Given the description of an element on the screen output the (x, y) to click on. 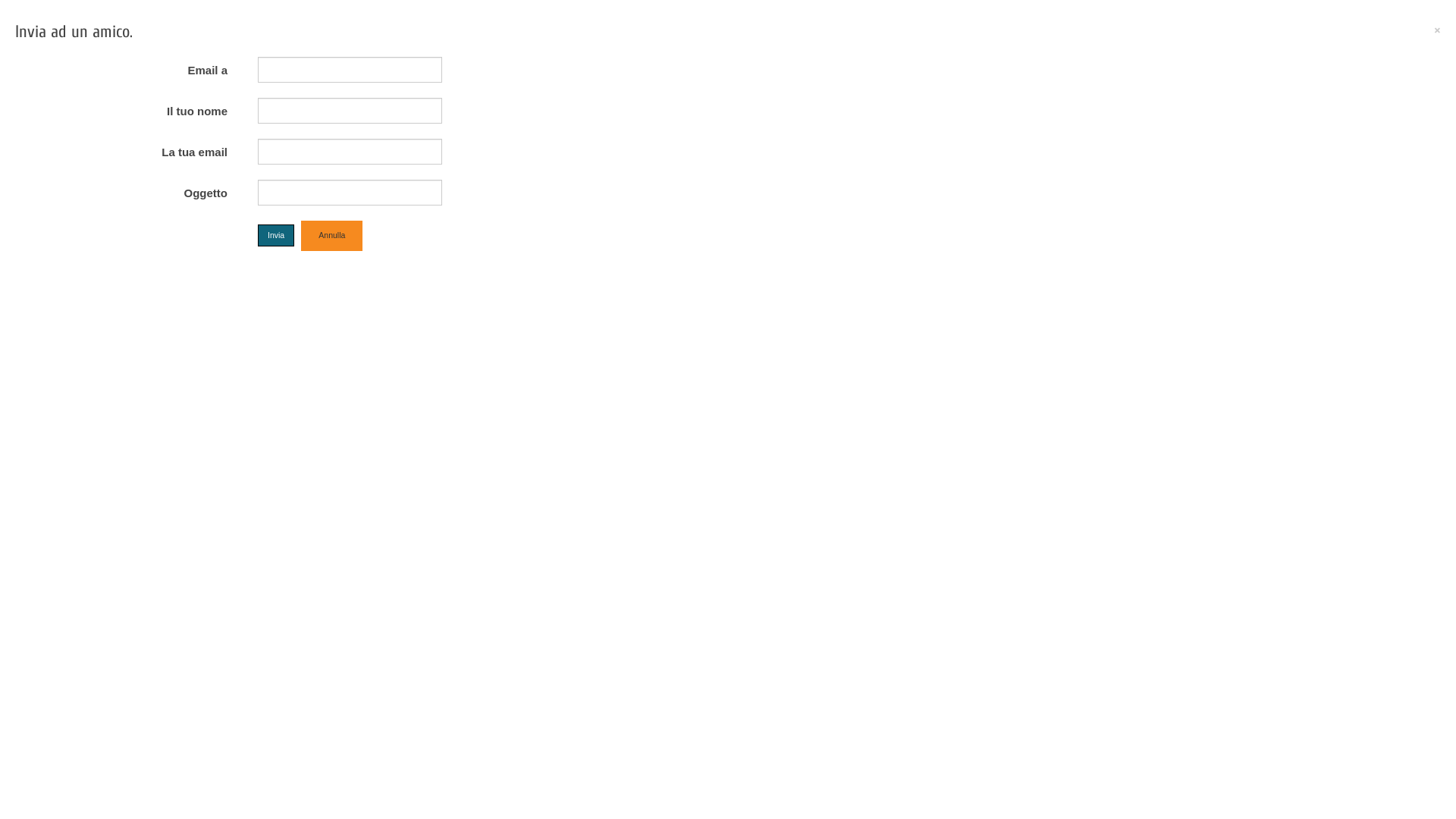
Annulla Element type: text (331, 235)
Invia Element type: text (275, 235)
